Given the description of an element on the screen output the (x, y) to click on. 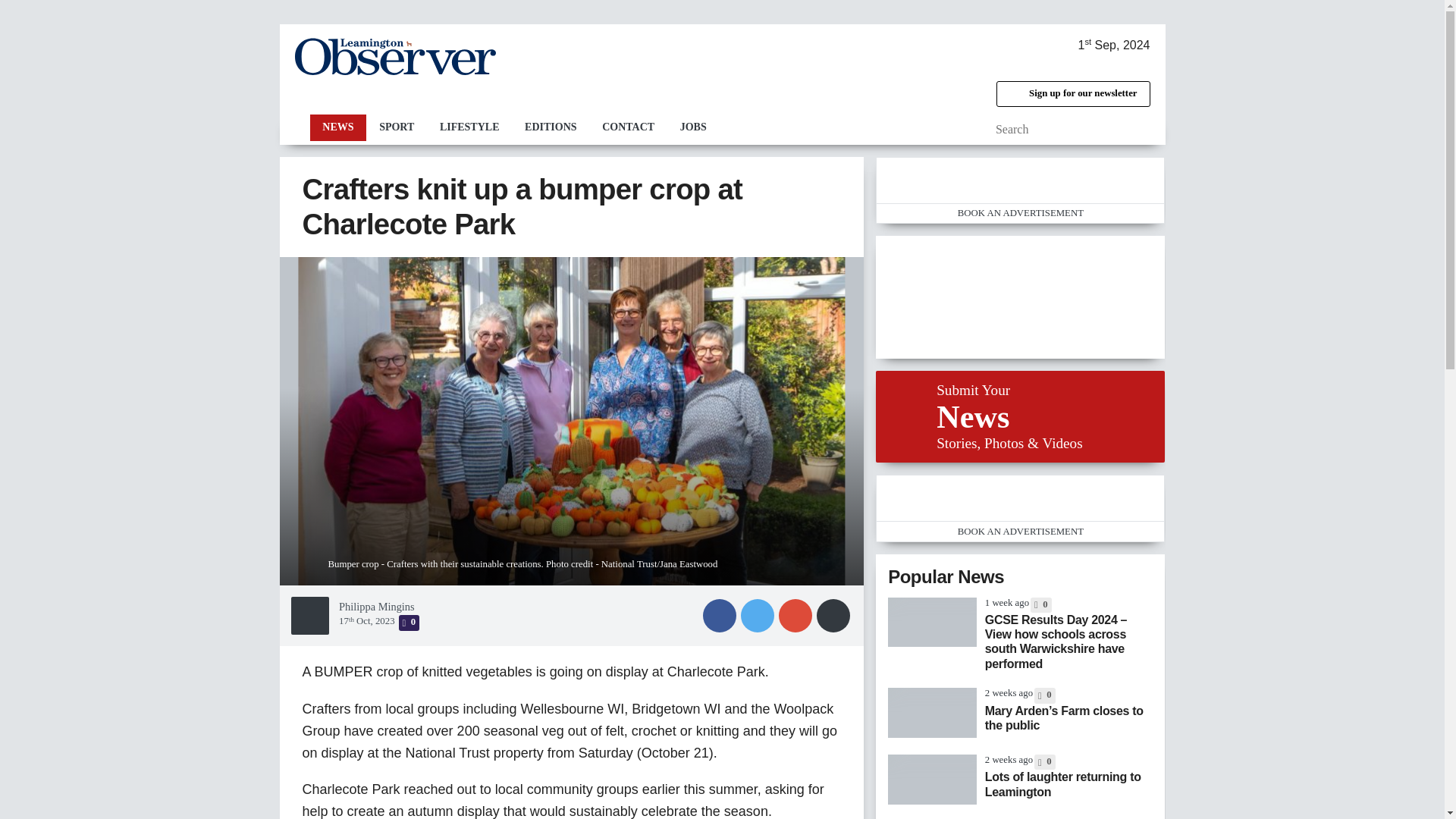
Philippa Mingins (376, 606)
CONTACT (627, 127)
NEWS (337, 127)
The Leamington Observer (394, 55)
SPORT (396, 127)
JOBS (692, 127)
  Sign up for our newsletter (1072, 94)
EDITIONS (550, 127)
LIFESTYLE (469, 127)
